Given the description of an element on the screen output the (x, y) to click on. 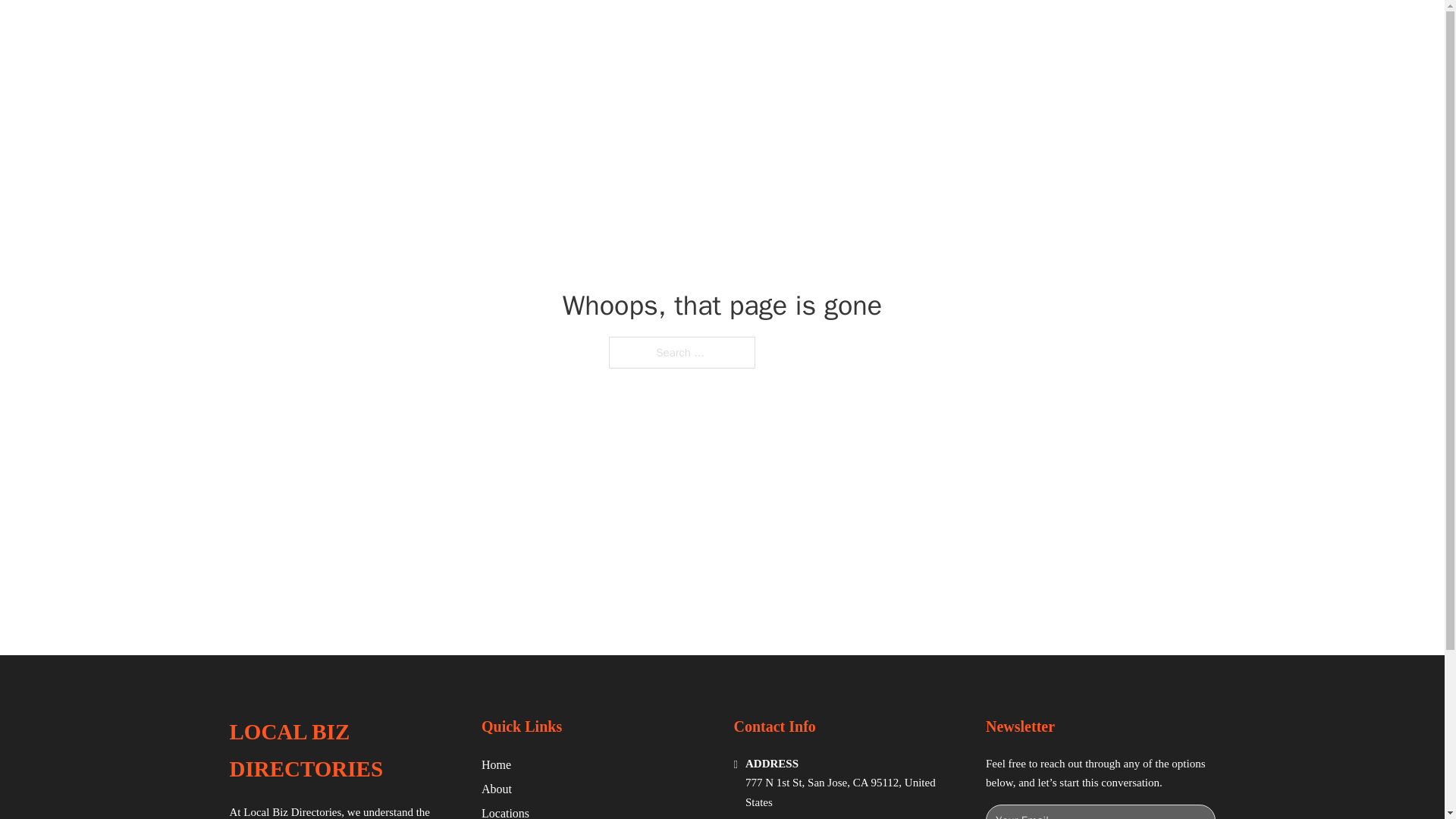
LOCAL BIZ DIRECTORIES (430, 28)
LOCATIONS (990, 29)
Home (496, 764)
About (496, 788)
HOME (919, 29)
LOCAL BIZ DIRECTORIES (343, 750)
Locations (505, 811)
